Given the description of an element on the screen output the (x, y) to click on. 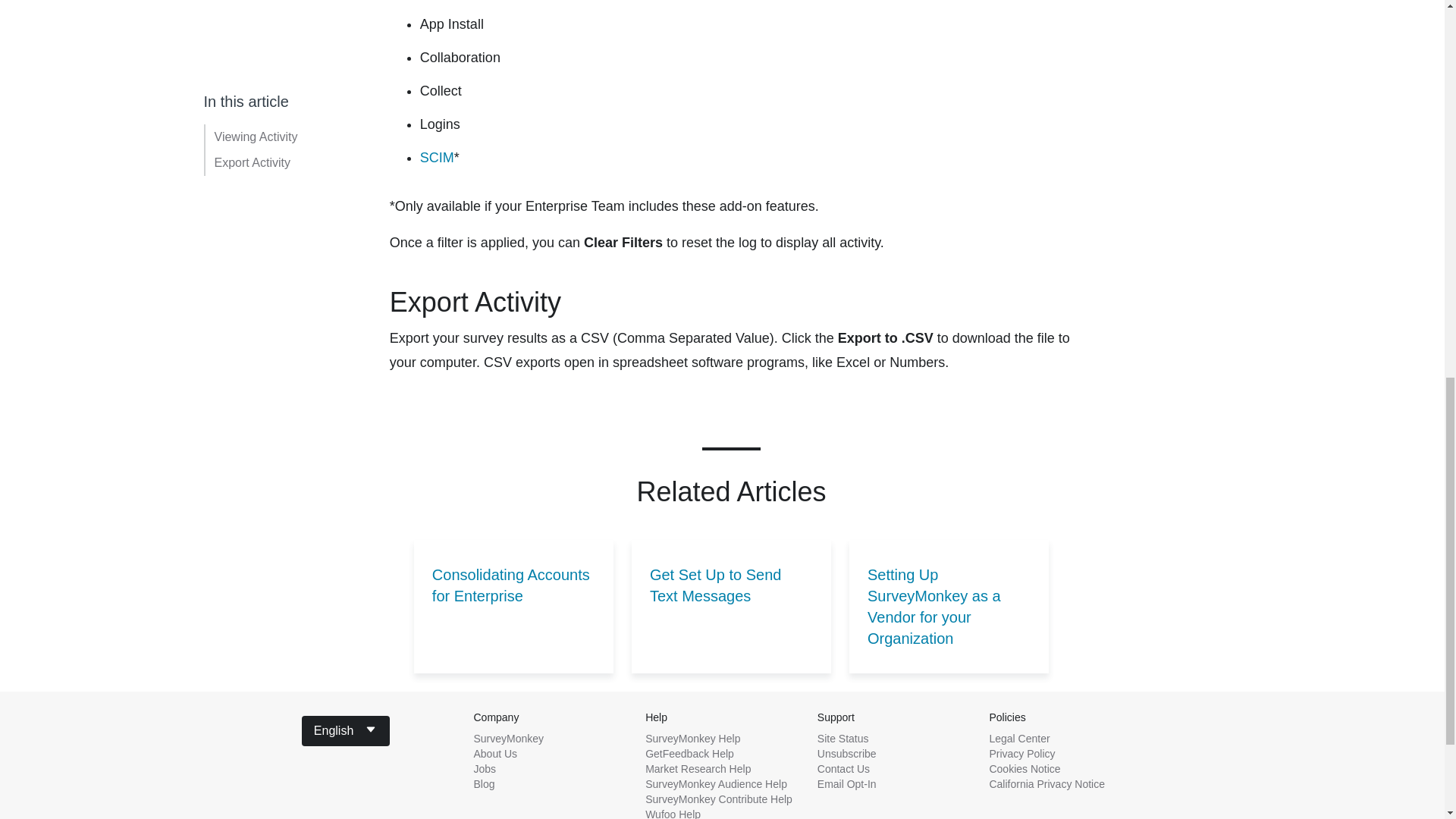
California Privacy Notice (1046, 784)
Contact Us (842, 768)
Jobs (484, 768)
Wufoo Help (672, 813)
Privacy Policy (1021, 753)
Setting Up SurveyMonkey as a Vendor for your Organization (948, 606)
SurveyMonkey Help (692, 738)
SurveyMonkey Audience Help (716, 784)
SurveyMonkey (508, 738)
Cookies Notice (1023, 768)
